Given the description of an element on the screen output the (x, y) to click on. 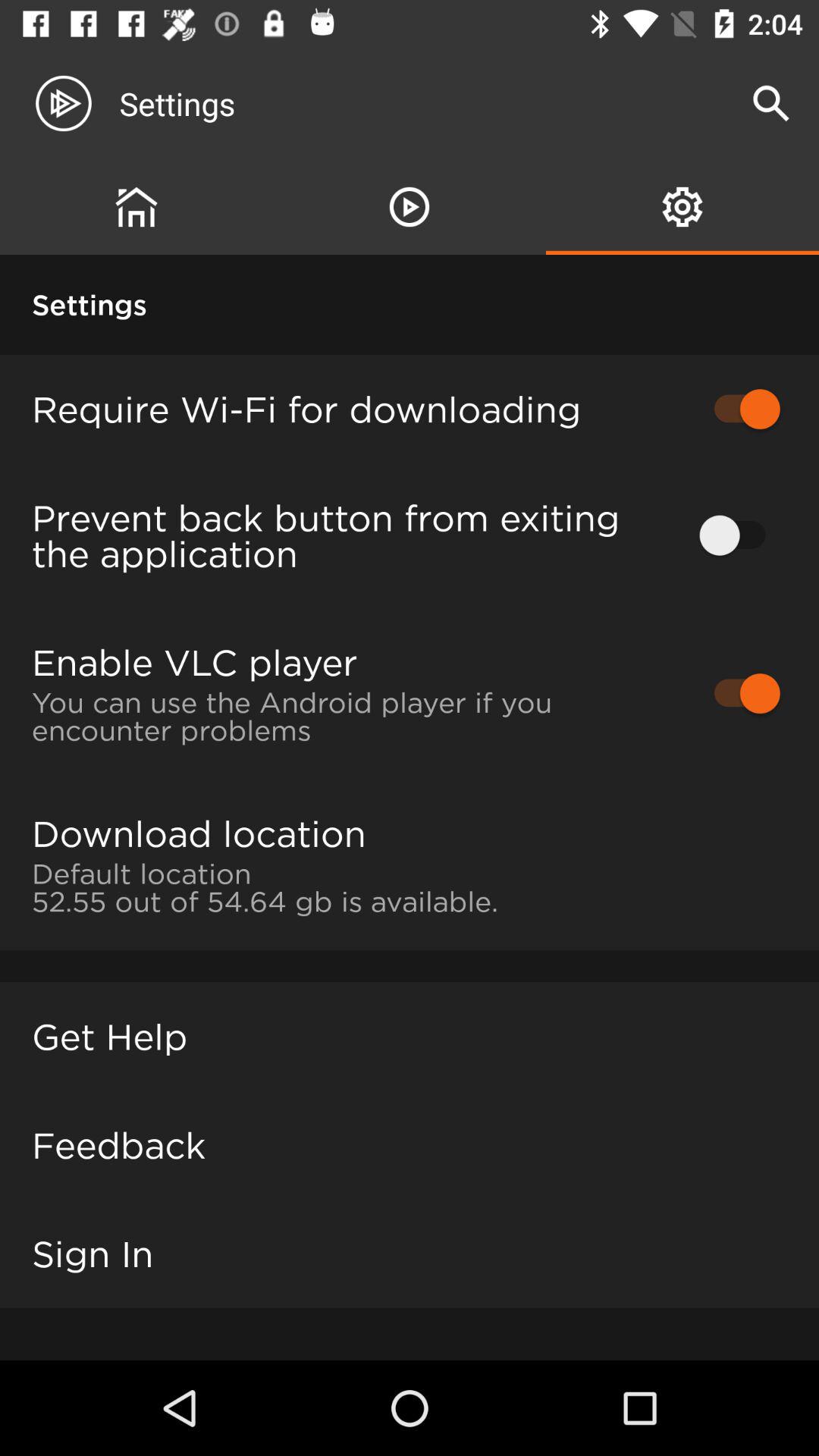
choose the item next to the require wi fi (739, 409)
